Given the description of an element on the screen output the (x, y) to click on. 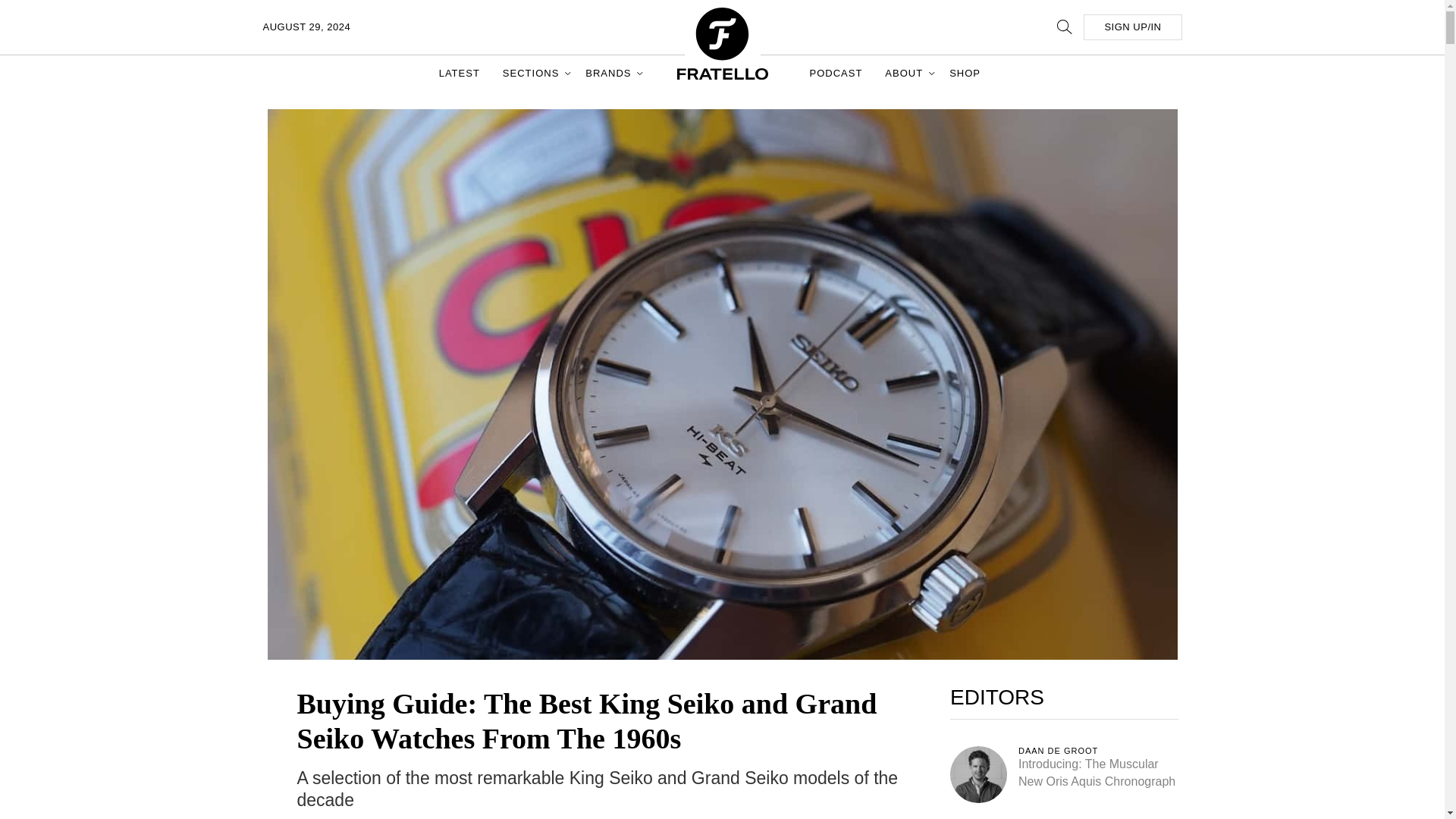
LATEST (460, 72)
BRANDS (609, 72)
SECTIONS (532, 72)
